Given the description of an element on the screen output the (x, y) to click on. 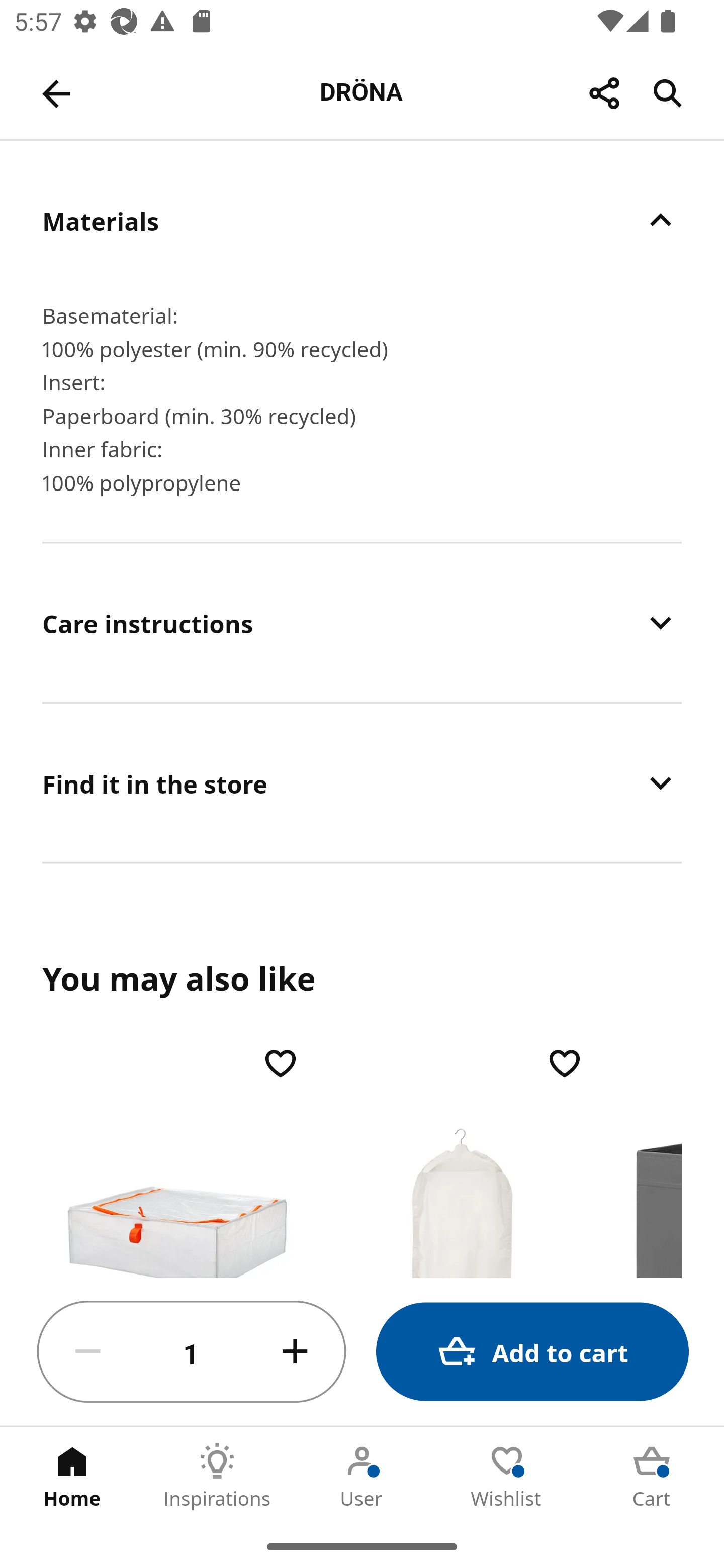
Materials (361, 219)
Care instructions (361, 622)
Find it in the store (361, 782)
​P​Ä​R​K​L​A​
storage case, 55x49x19 cm
$
19
.9 (176, 1159)
Add to cart (531, 1352)
1 (191, 1352)
Home
Tab 1 of 5 (72, 1476)
Inspirations
Tab 2 of 5 (216, 1476)
User
Tab 3 of 5 (361, 1476)
Wishlist
Tab 4 of 5 (506, 1476)
Cart
Tab 5 of 5 (651, 1476)
